Given the description of an element on the screen output the (x, y) to click on. 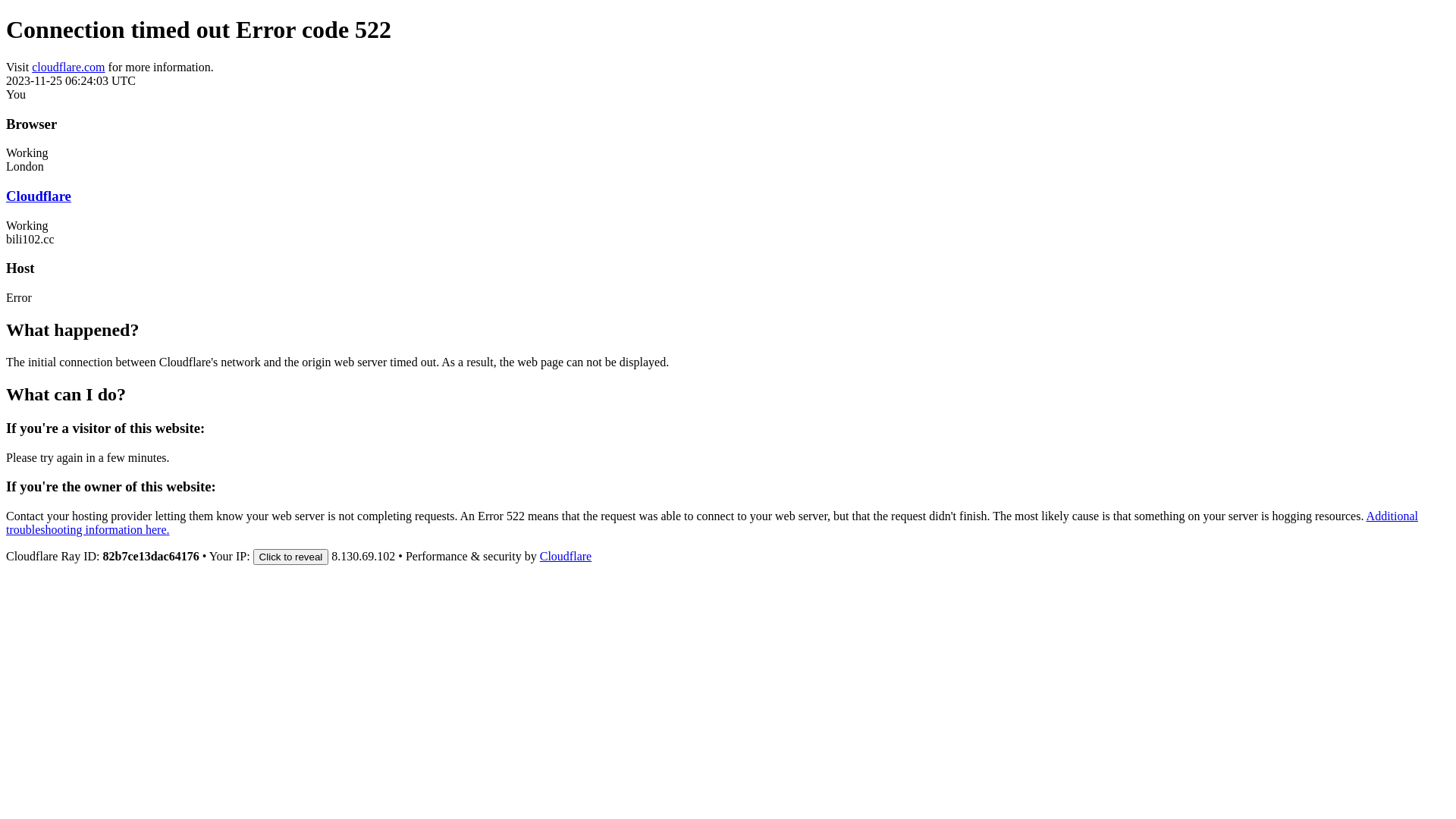
Click to reveal Element type: text (291, 556)
Cloudflare Element type: text (38, 195)
Cloudflare Element type: text (565, 555)
cloudflare.com Element type: text (67, 66)
Additional troubleshooting information here. Element type: text (712, 522)
